Given the description of an element on the screen output the (x, y) to click on. 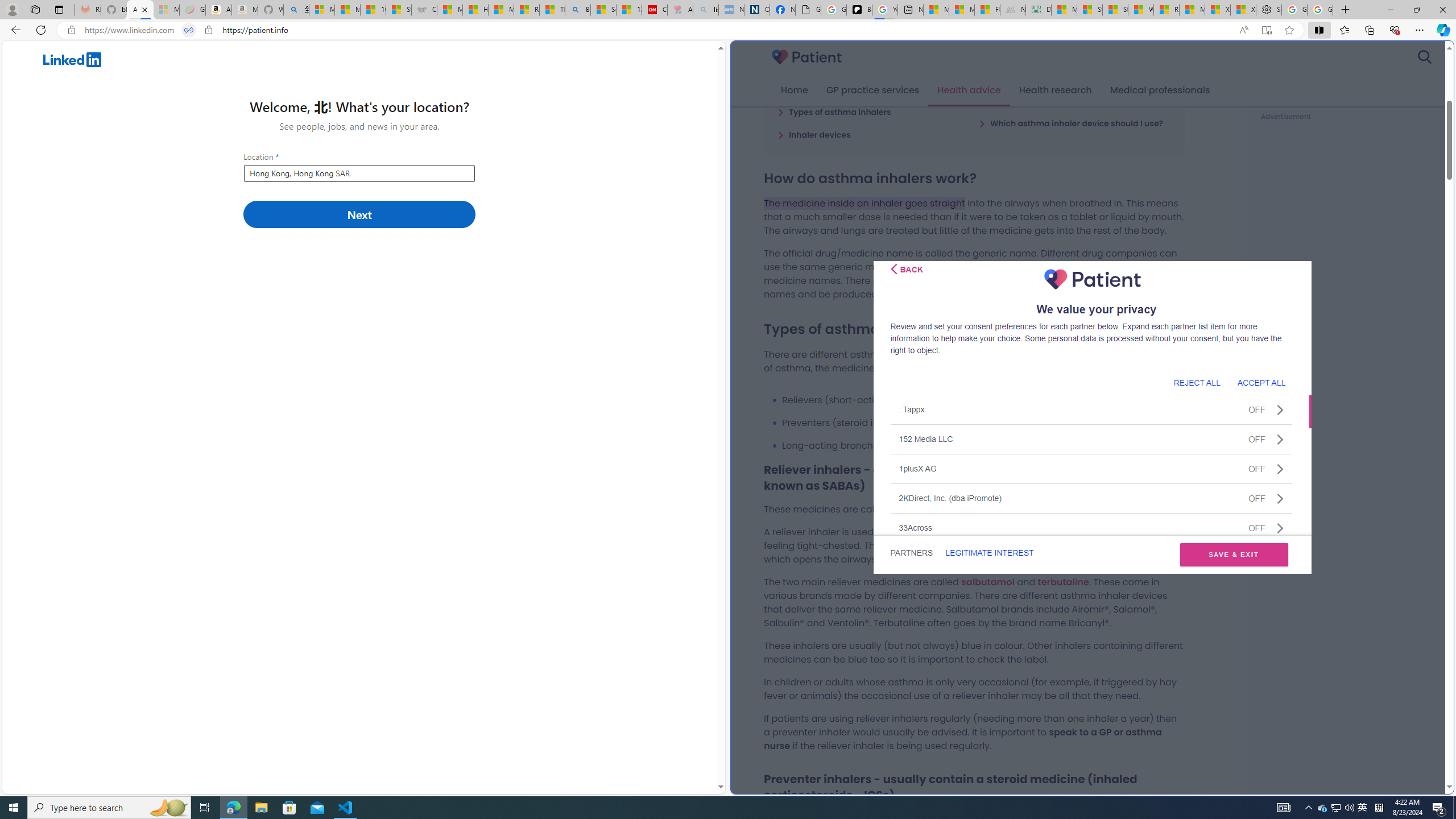
Health research (1054, 90)
: TappxOFF (1090, 409)
Are there any side-effects from asthma inhalers? (1074, 94)
